Given the description of an element on the screen output the (x, y) to click on. 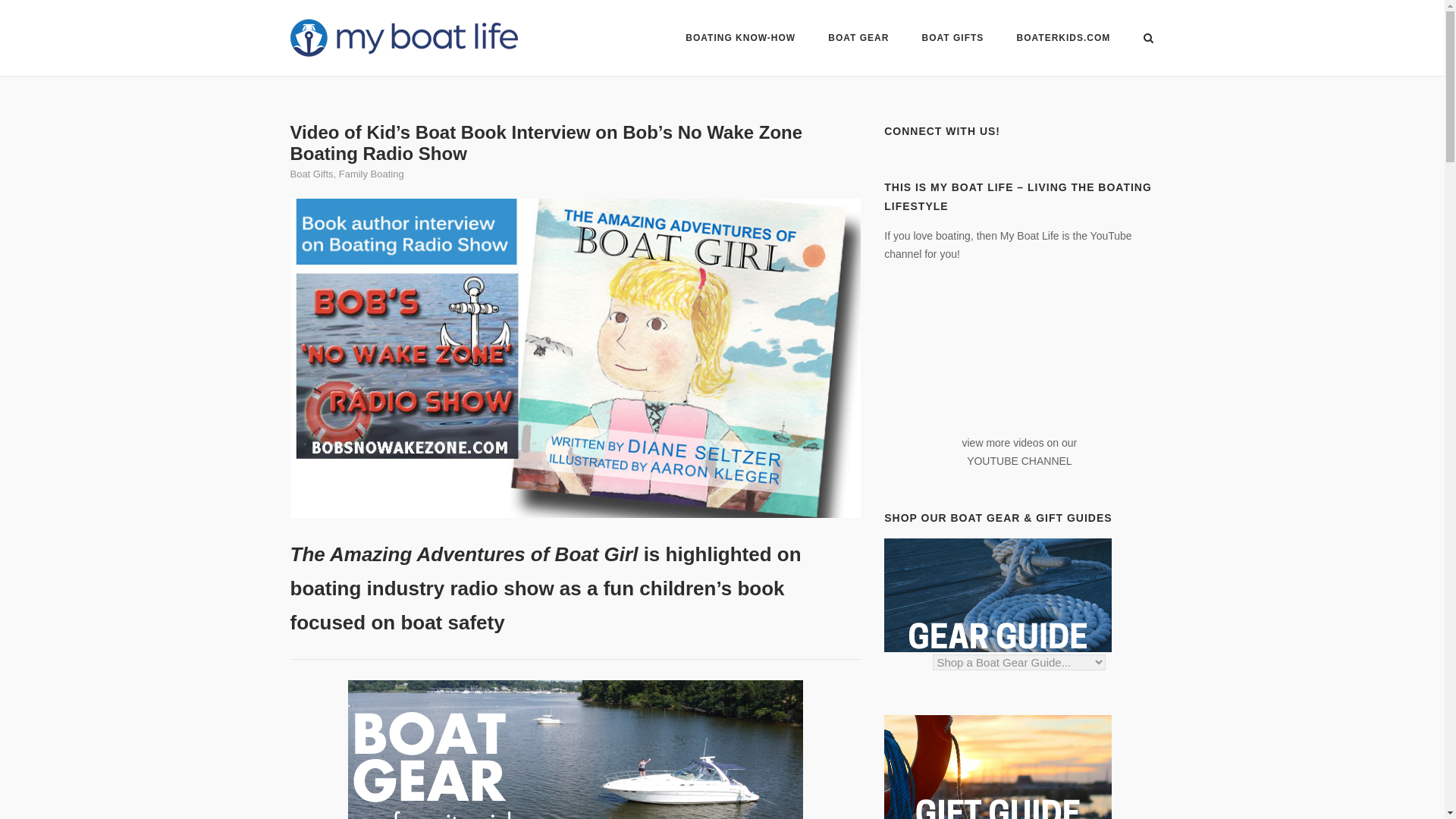
BOATING KNOW-HOW (739, 39)
BOAT GEAR (858, 39)
BOAT GIFTS (952, 39)
Family Boating (371, 173)
BOATERKIDS.COM (1063, 40)
Boat Gifts (311, 173)
